Given the description of an element on the screen output the (x, y) to click on. 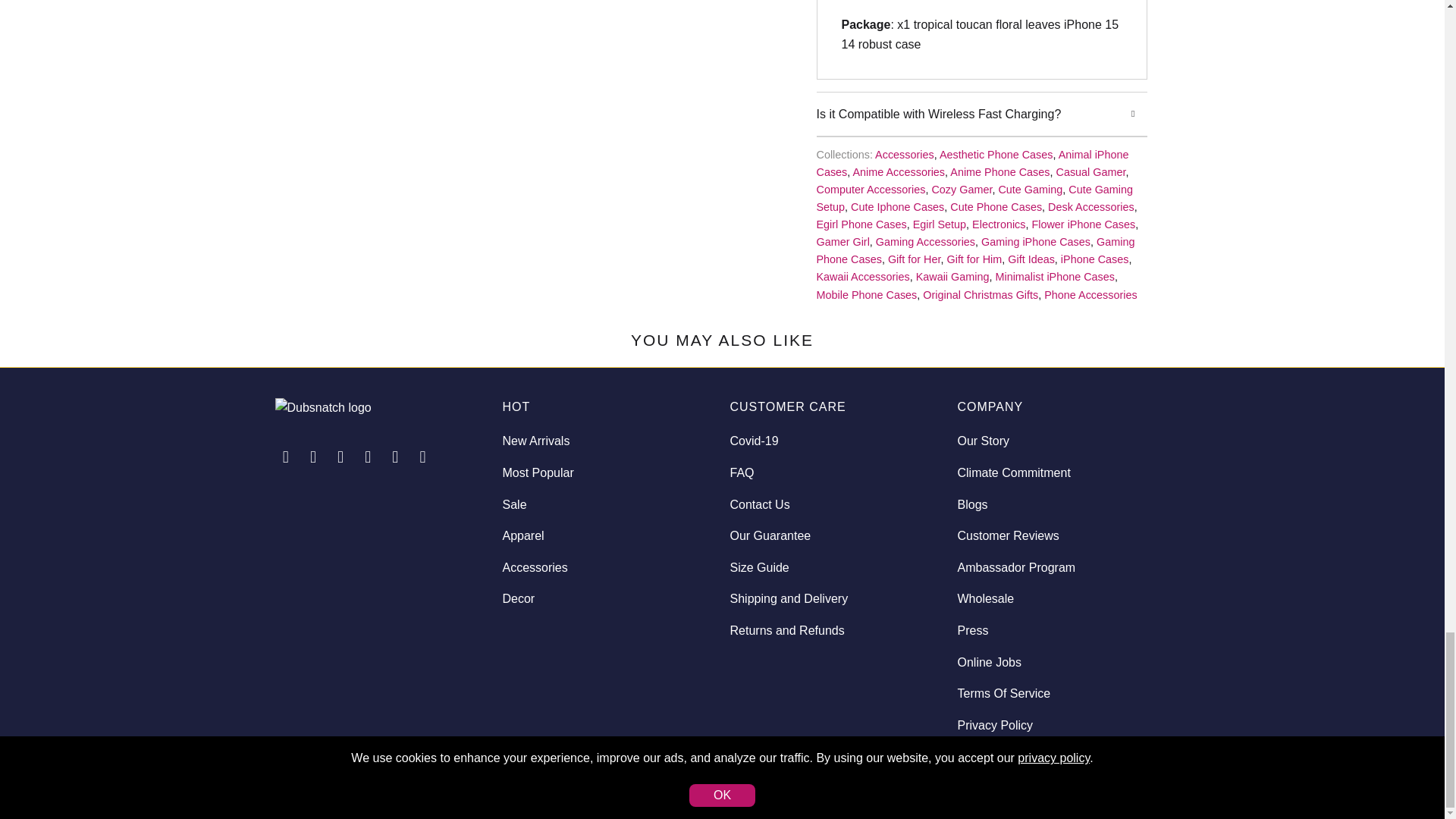
American Express (1031, 781)
Mastercard (1072, 781)
Shop Pay (1111, 781)
Visa (1150, 781)
